Given the description of an element on the screen output the (x, y) to click on. 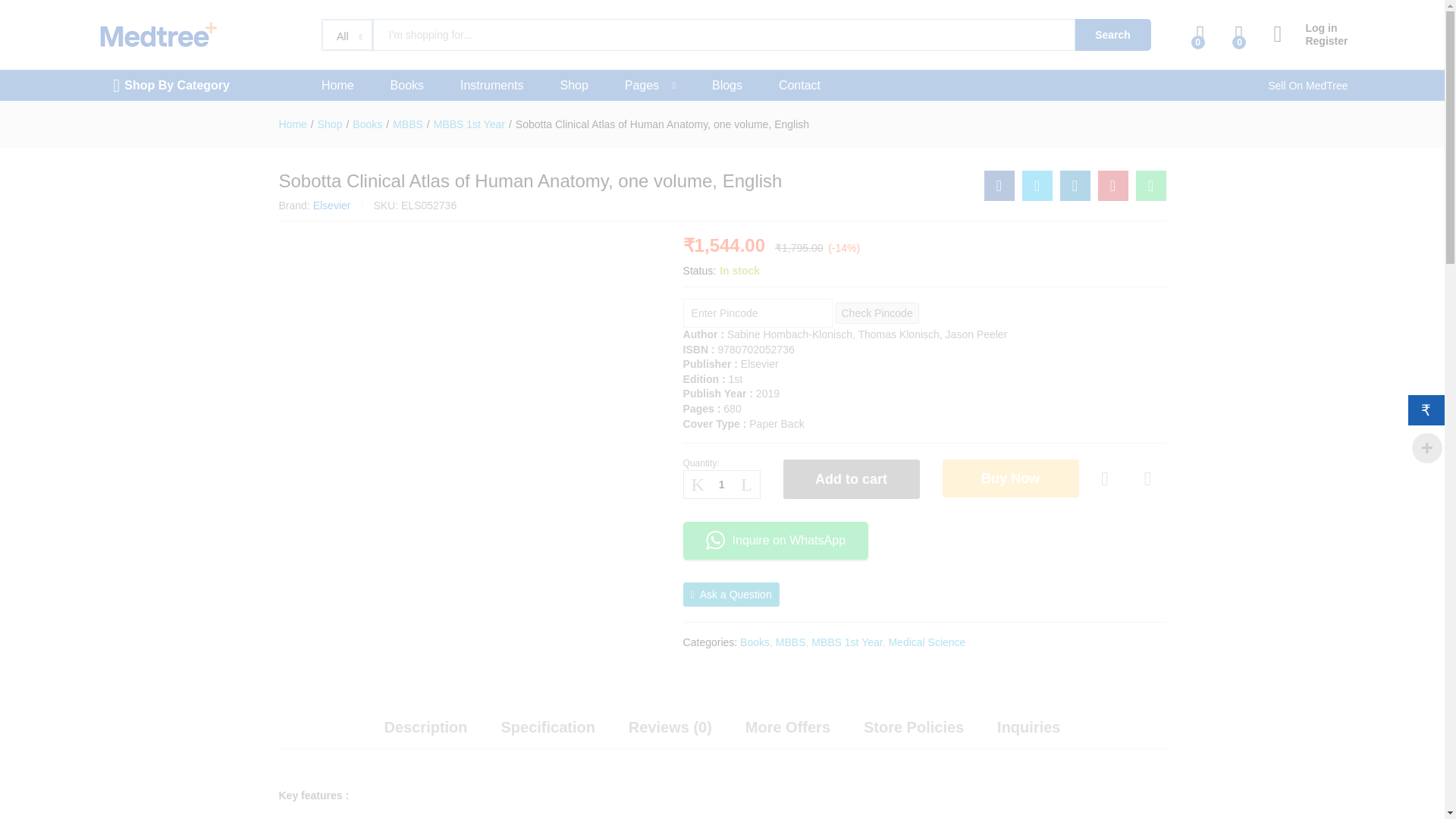
Sobotta Clinical Atlas of Human Anatomy, one volume, English (999, 185)
1 (721, 483)
Qty (721, 483)
Compare (1147, 479)
Sobotta Clinical Atlas of Human Anatomy, one volume, English (1150, 185)
Add to wishlist (1106, 479)
